Given the description of an element on the screen output the (x, y) to click on. 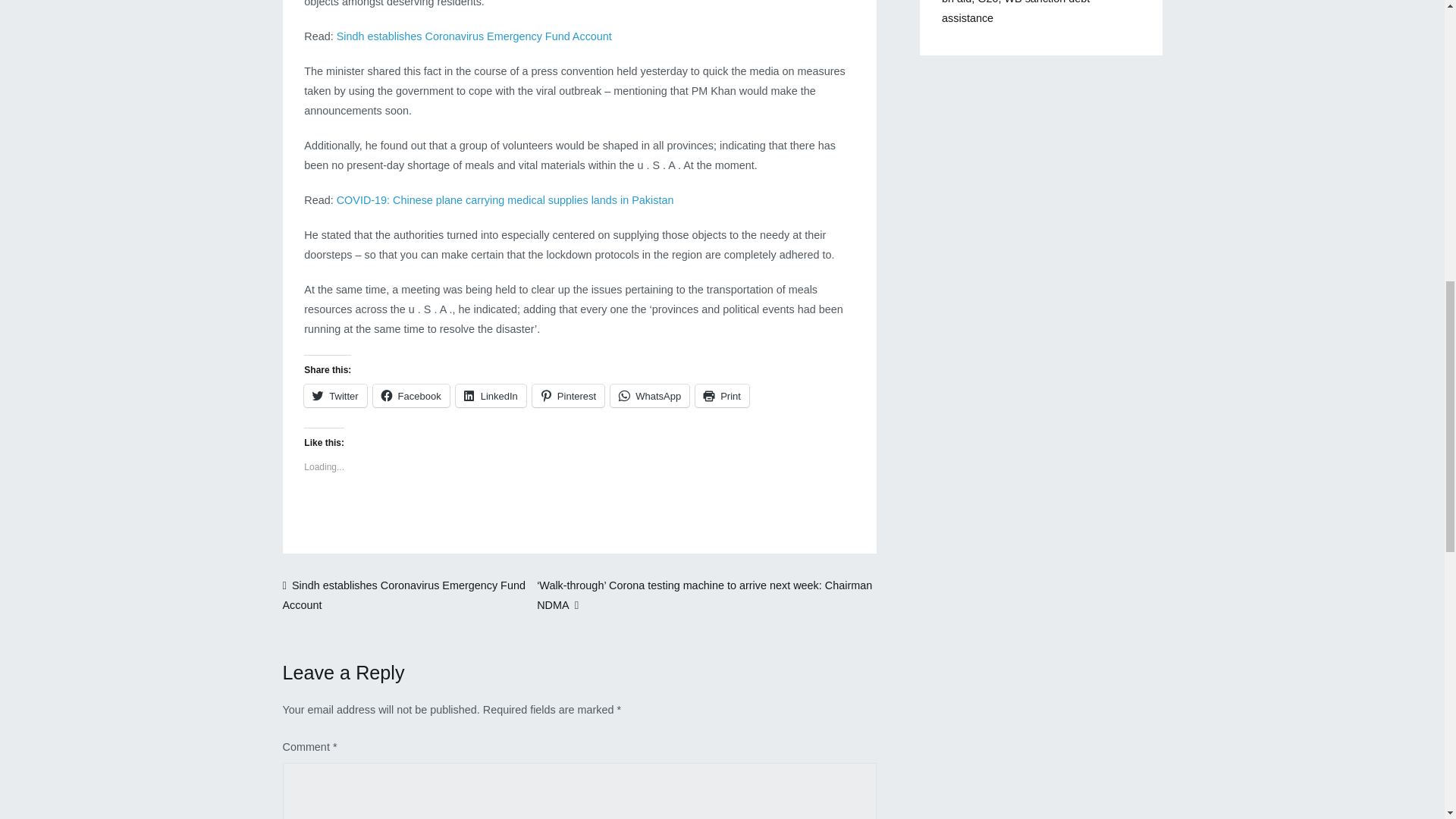
LinkedIn (490, 395)
Click to share on LinkedIn (490, 395)
Click to share on Pinterest (568, 395)
Click to share on Twitter (335, 395)
Sindh establishes Coronavirus Emergency Fund Account (473, 36)
WhatsApp (649, 395)
Facebook (410, 395)
Pinterest (568, 395)
Click to print (722, 395)
Click to share on WhatsApp (649, 395)
Print (722, 395)
Sindh establishes Coronavirus Emergency Fund Account (403, 594)
Click to share on Facebook (410, 395)
